Given the description of an element on the screen output the (x, y) to click on. 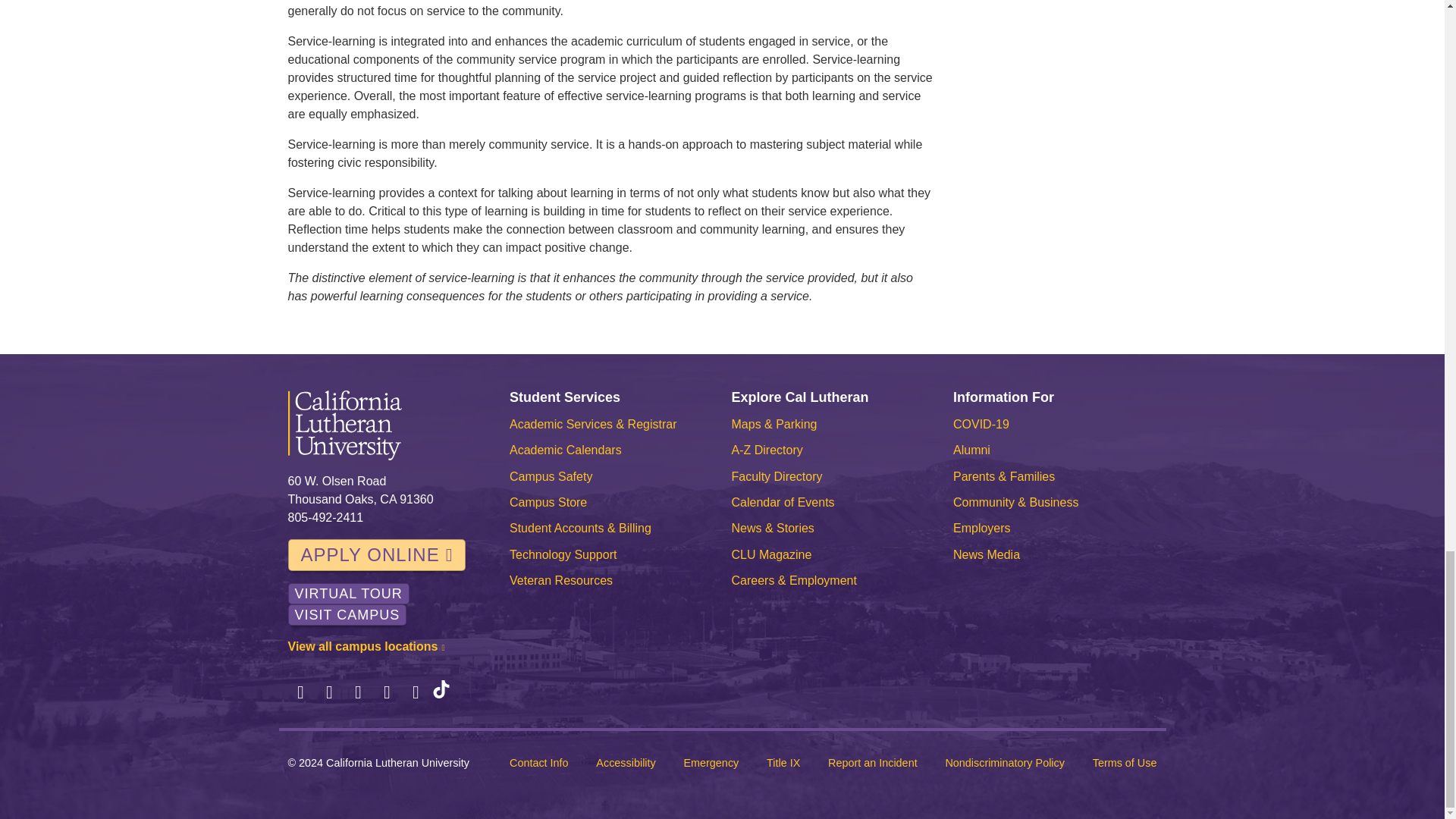
TikTok (440, 691)
LinkedIn (387, 691)
Instagram (358, 691)
YouTube (416, 691)
Facebook (301, 691)
